Given the description of an element on the screen output the (x, y) to click on. 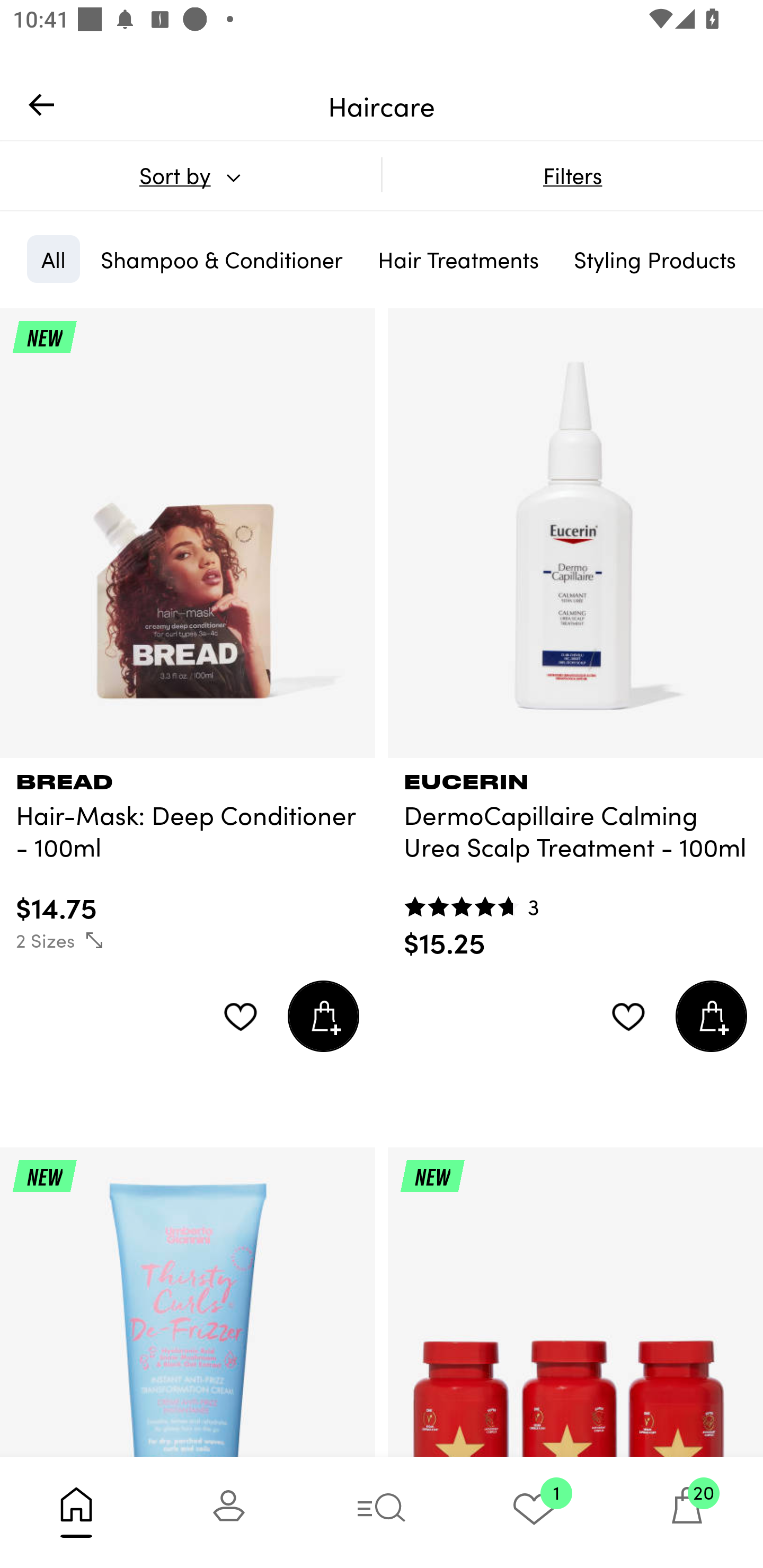
Sort by (190, 174)
Filters (572, 174)
All (53, 258)
Shampoo & Conditioner (221, 258)
Hair Treatments (458, 258)
Styling Products (654, 258)
1 (533, 1512)
20 (686, 1512)
